Given the description of an element on the screen output the (x, y) to click on. 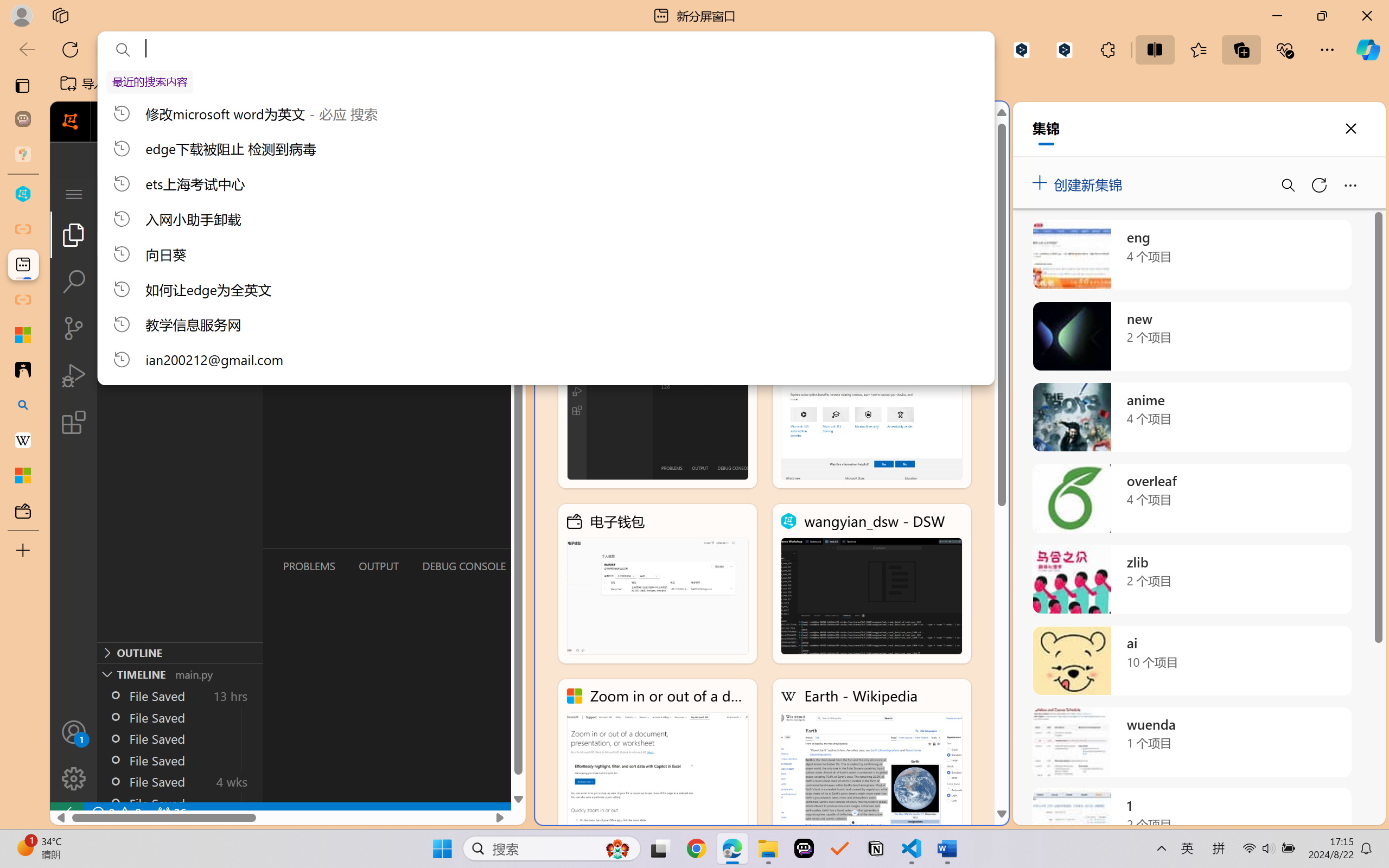
Source Control (Ctrl+Shift+G) (73, 328)
Problems (Ctrl+Shift+M) (308, 565)
wangyian_webcrawler - DSW (657, 408)
No Problems (115, 812)
Tab actions (512, 194)
sample_500k.py (336, 194)
Manage (73, 778)
